Given the description of an element on the screen output the (x, y) to click on. 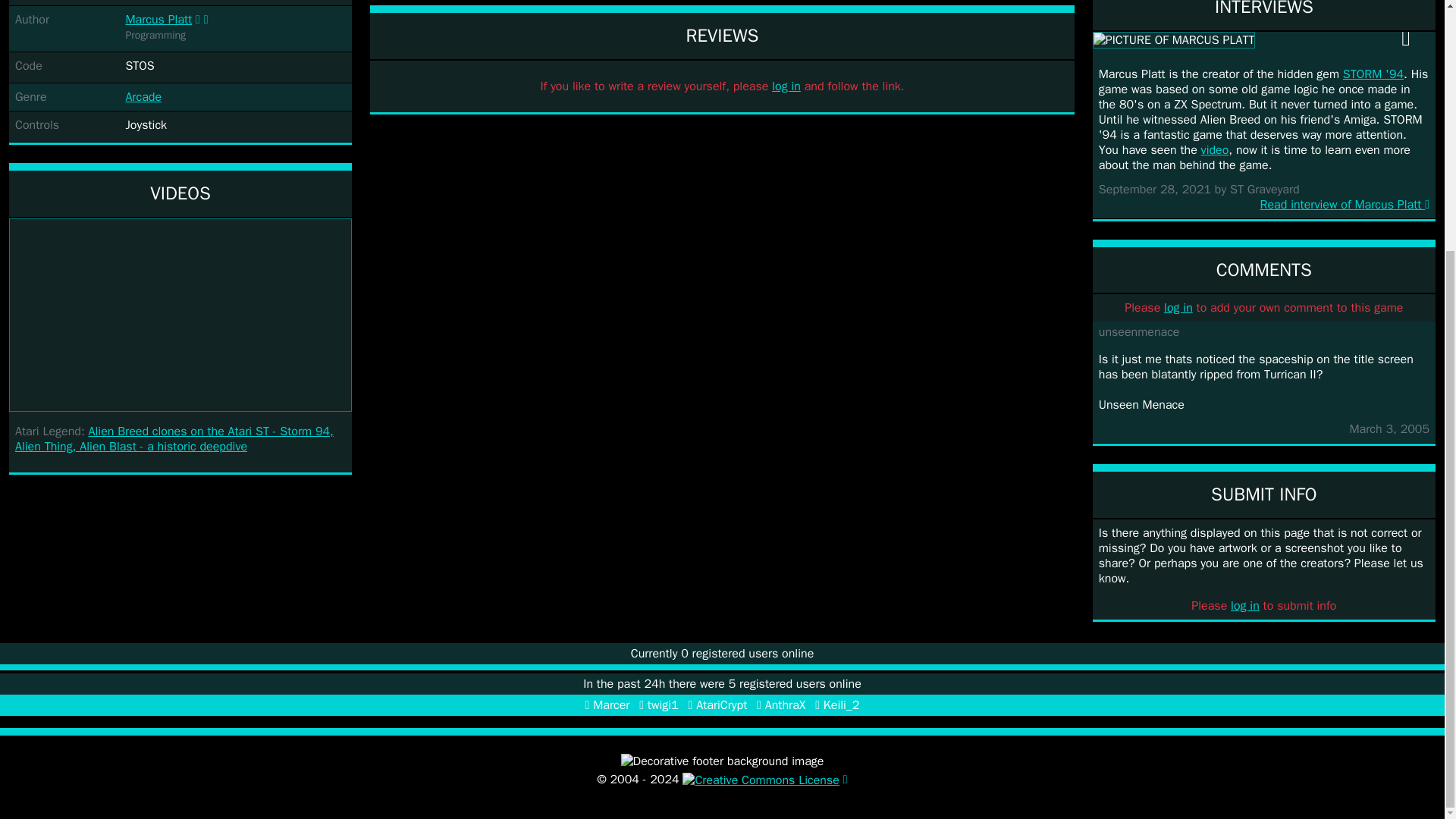
Arcade (143, 96)
log in (1177, 307)
STORM '94 (1372, 73)
log in (785, 86)
Marcus Platt (158, 19)
video (1214, 150)
Read interview of Marcus Platt (1264, 204)
